Given the description of an element on the screen output the (x, y) to click on. 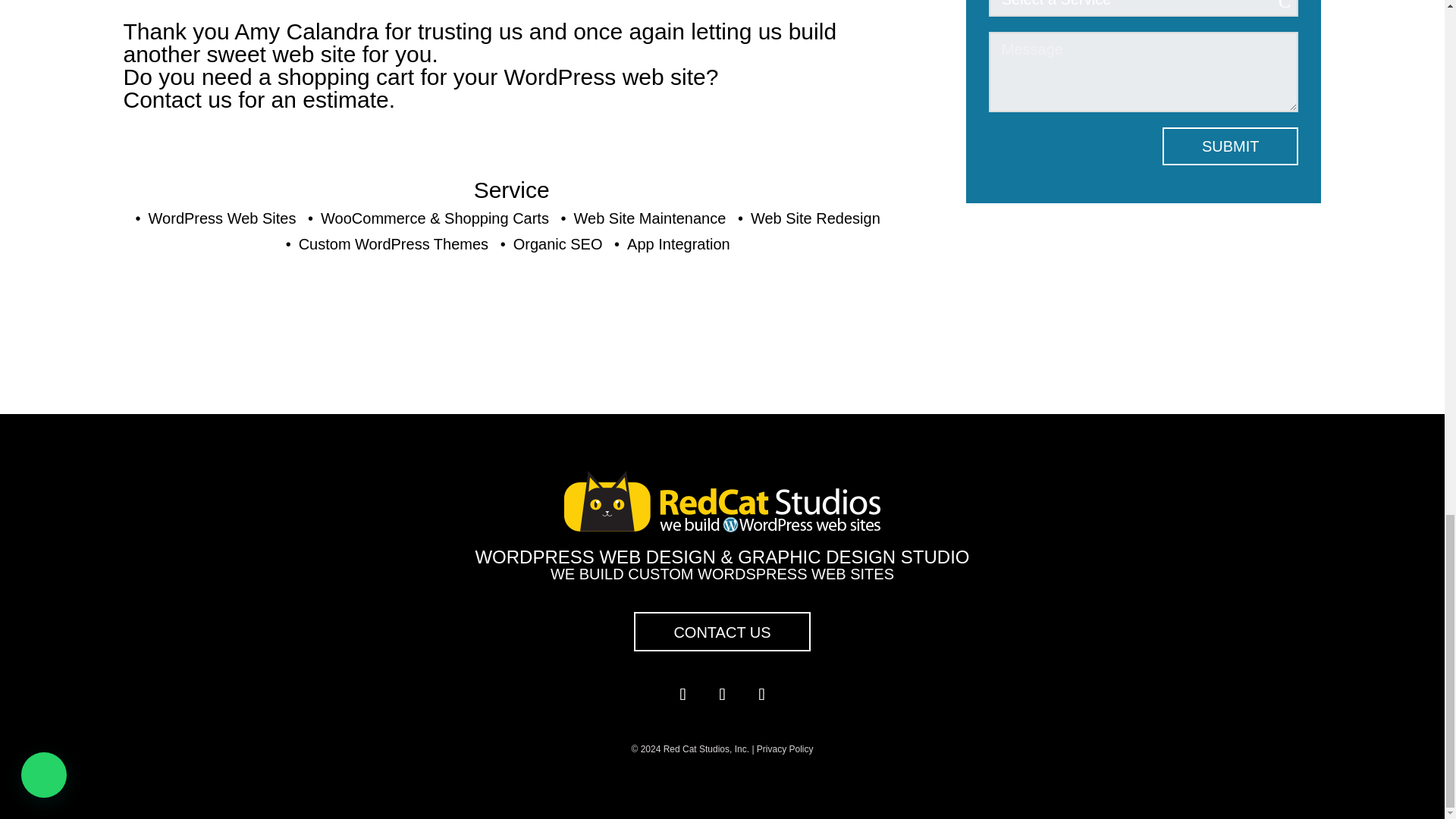
Follow on Facebook (681, 694)
redcatstudios (722, 501)
Follow on Instagram (760, 694)
Follow on LinkedIn (721, 694)
